Given the description of an element on the screen output the (x, y) to click on. 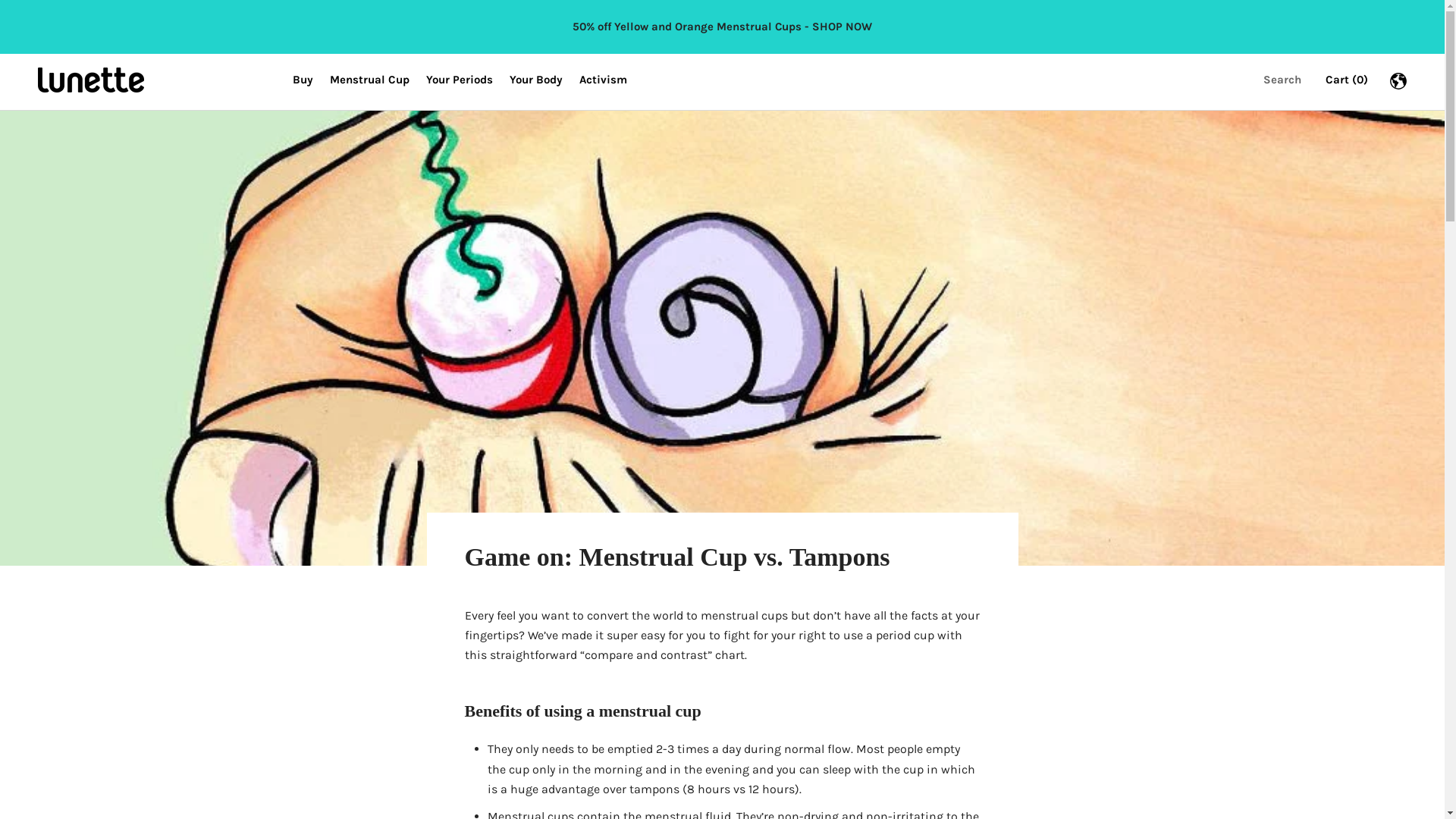
50% off Yellow and Orange Menstrual Cups - SHOP NOW Element type: text (722, 26)
Activism
Activism Element type: text (603, 79)
Cart (0) Element type: text (1346, 79)
Your Body
Your Body Element type: text (535, 79)
Menstrual Cup
Menstrual Cup Element type: text (369, 79)
Your Periods
Your Periods Element type: text (459, 79)
Buy
Buy Element type: text (302, 79)
Search Element type: text (1282, 79)
